Given the description of an element on the screen output the (x, y) to click on. 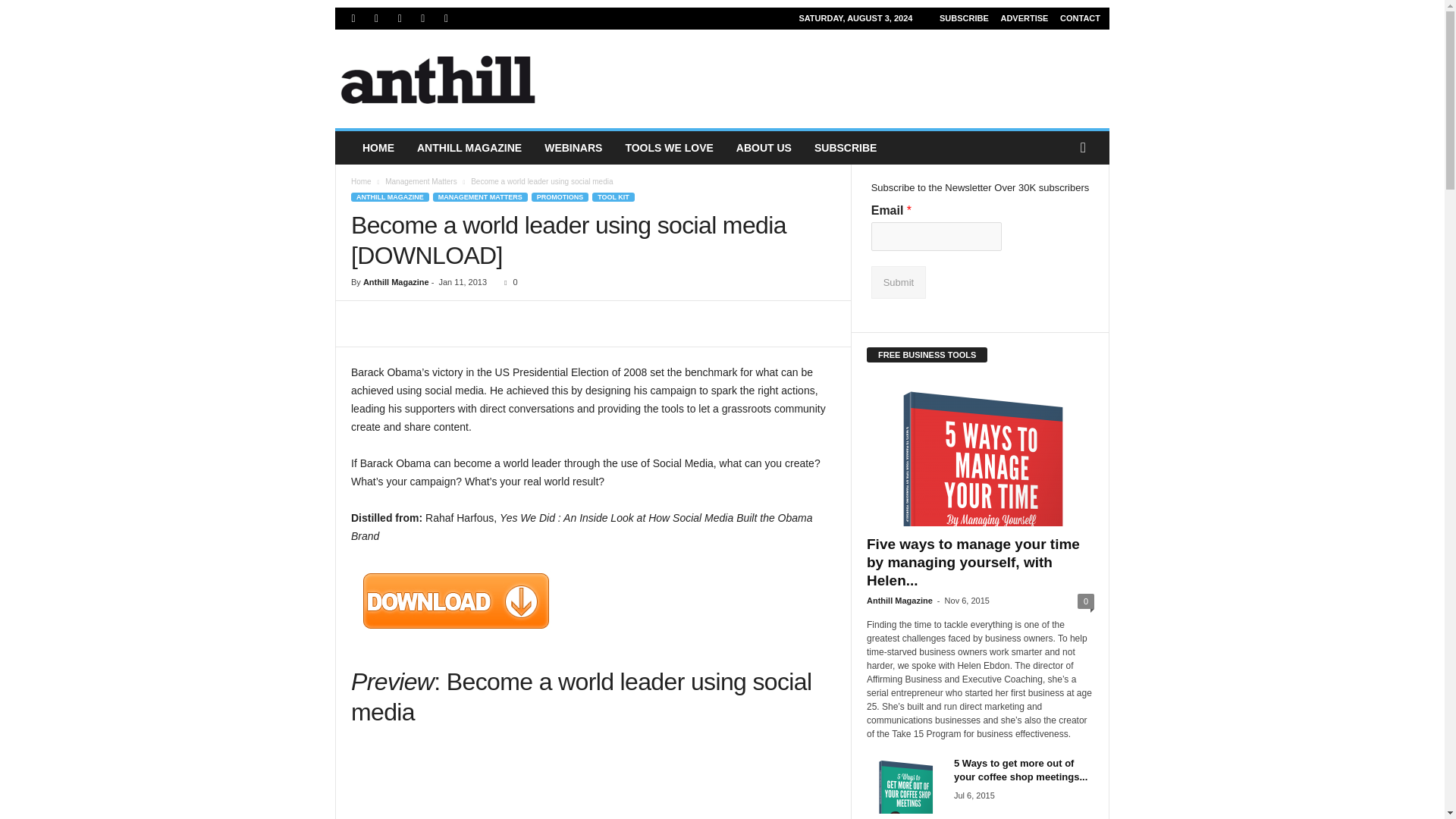
SUBSCRIBE (963, 17)
View all posts in Management Matters (421, 181)
CONTACT (1079, 17)
ADVERTISE (1024, 17)
